Given the description of an element on the screen output the (x, y) to click on. 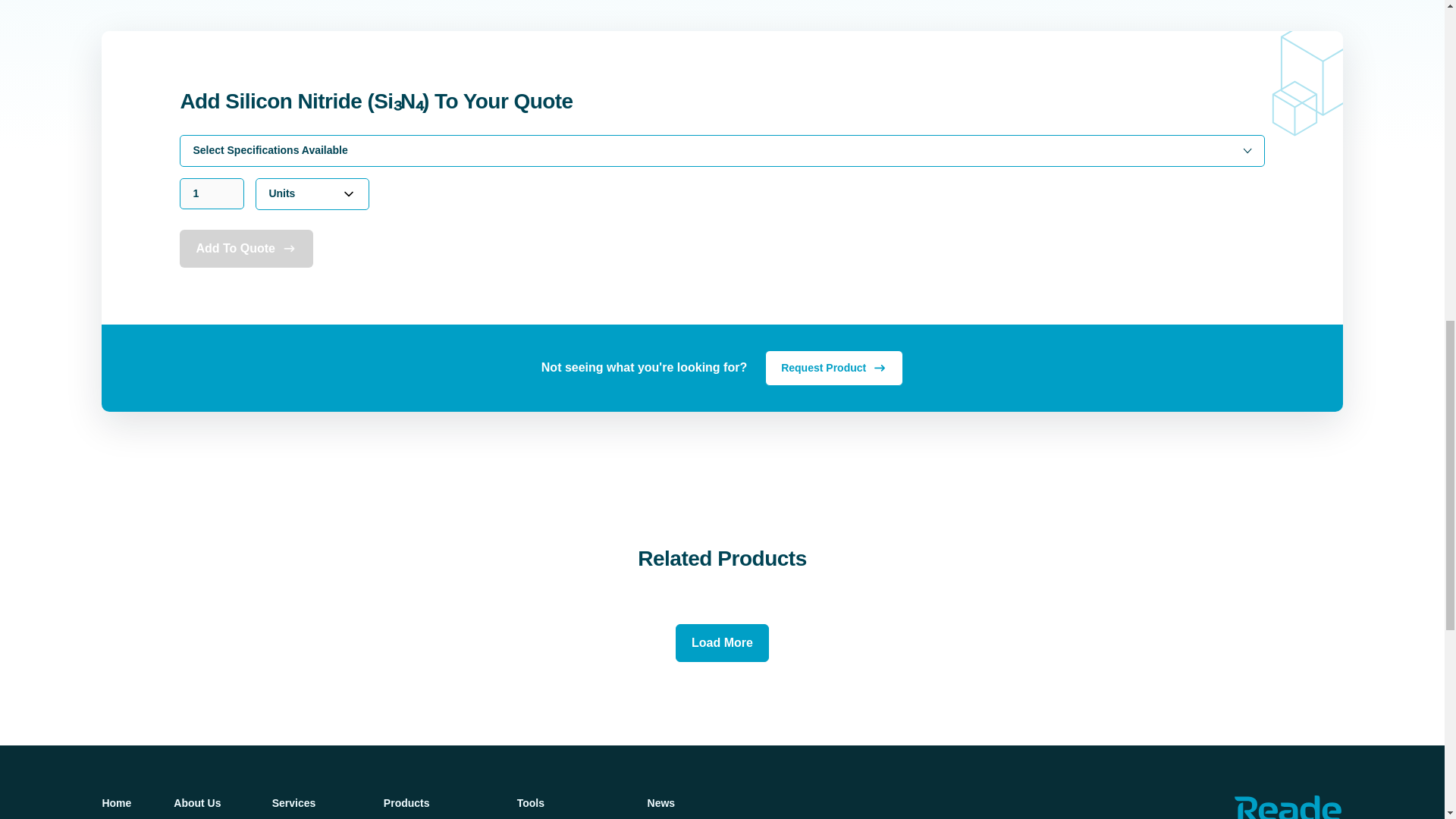
1 (211, 193)
